Given the description of an element on the screen output the (x, y) to click on. 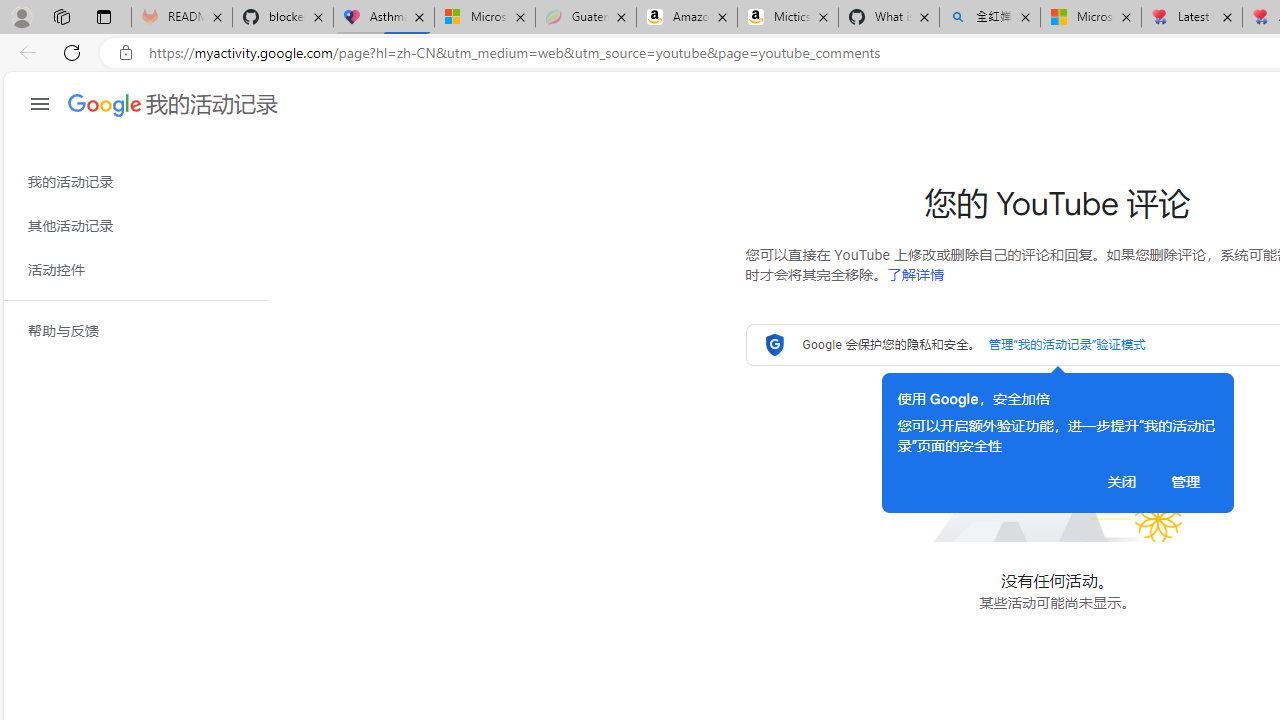
Asthma Inhalers: Names and Types (383, 17)
